Given the description of an element on the screen output the (x, y) to click on. 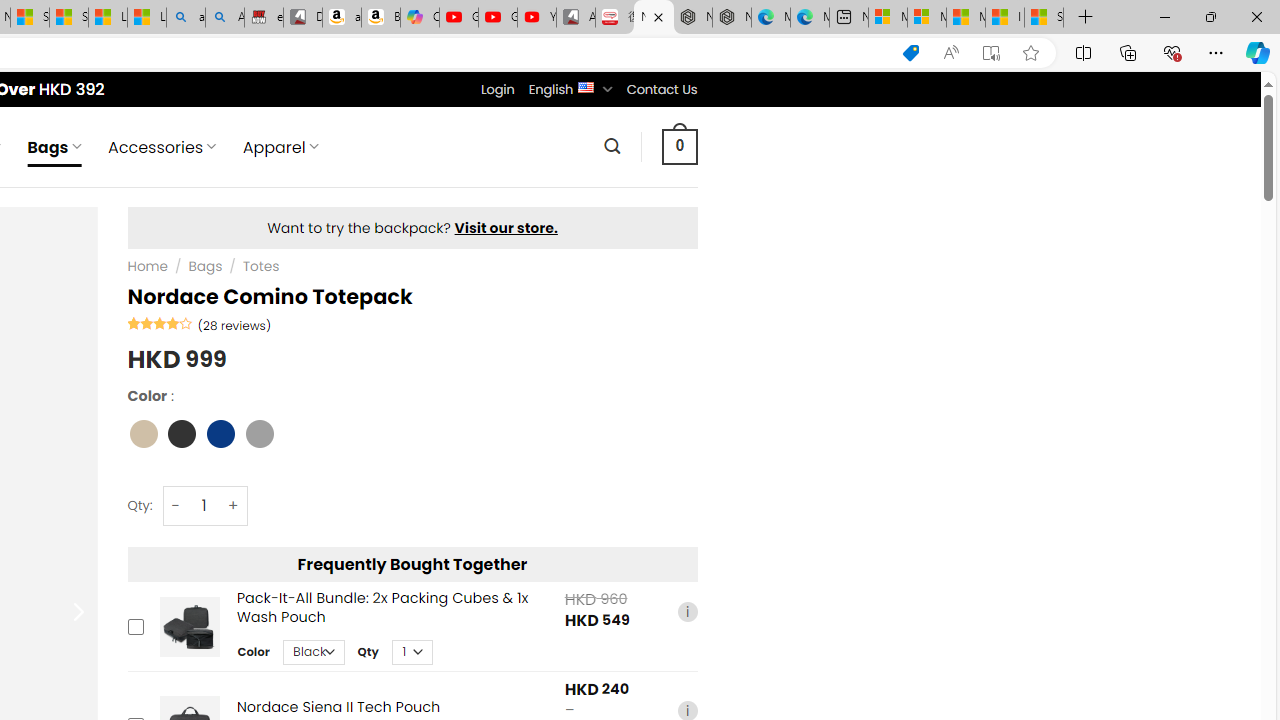
Copilot (419, 17)
This site has coupons! Shopping in Microsoft Edge (910, 53)
All Cubot phones (575, 17)
Nordace - Nordace has arrived Hong Kong (732, 17)
Login (497, 89)
Contact Us (661, 89)
Search (612, 146)
